Given the description of an element on the screen output the (x, y) to click on. 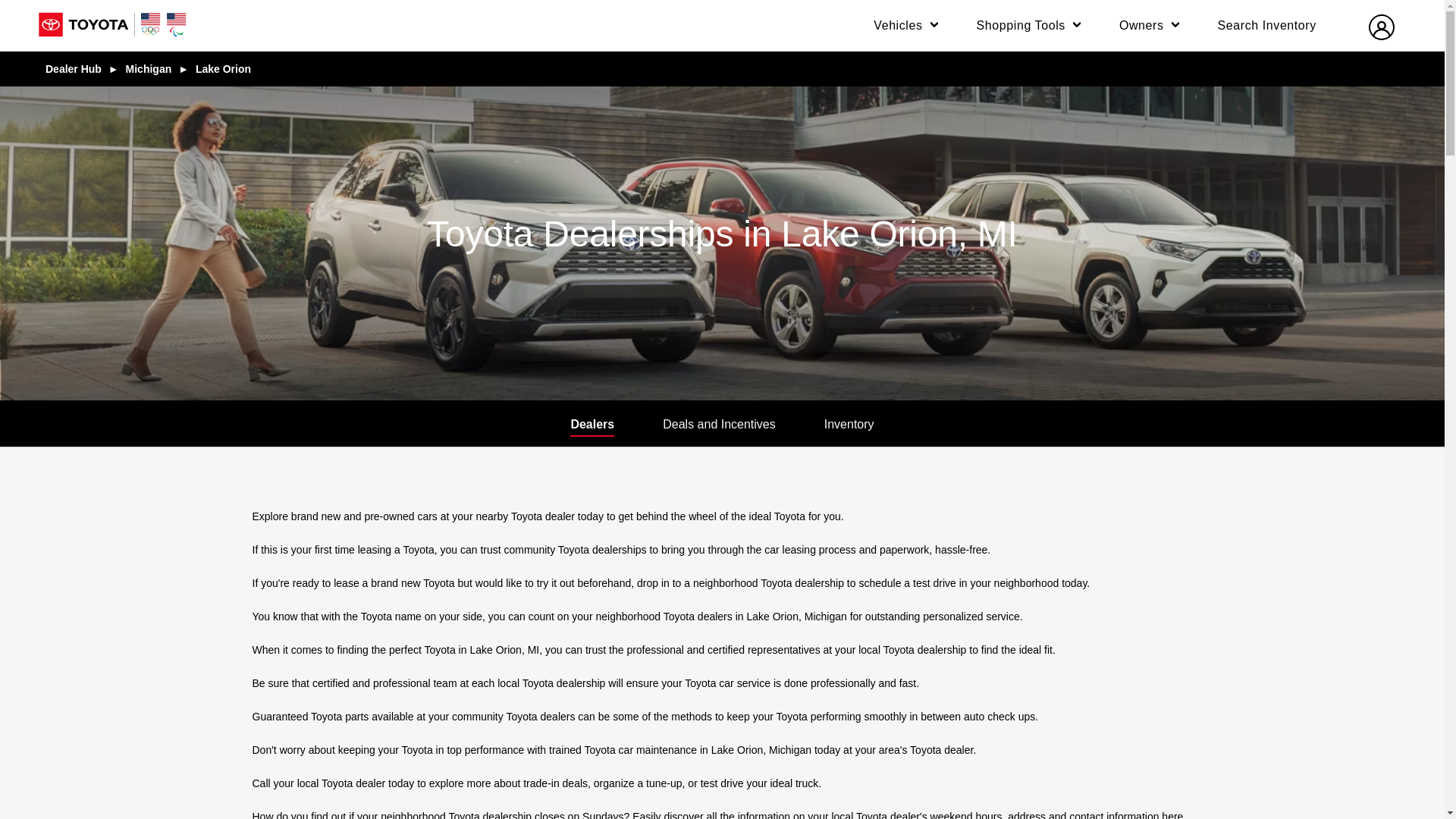
Owners (1152, 25)
Inventory (849, 424)
Shopping Tools (1031, 25)
Vehicles (908, 25)
Deals and Incentives (719, 424)
Search Inventory (1269, 25)
Michigan (148, 68)
Inventory (849, 424)
Lake Orion (222, 68)
Dealer Hub (73, 68)
Dealers (592, 424)
Dealers (592, 424)
Deals and Incentives (719, 424)
